Given the description of an element on the screen output the (x, y) to click on. 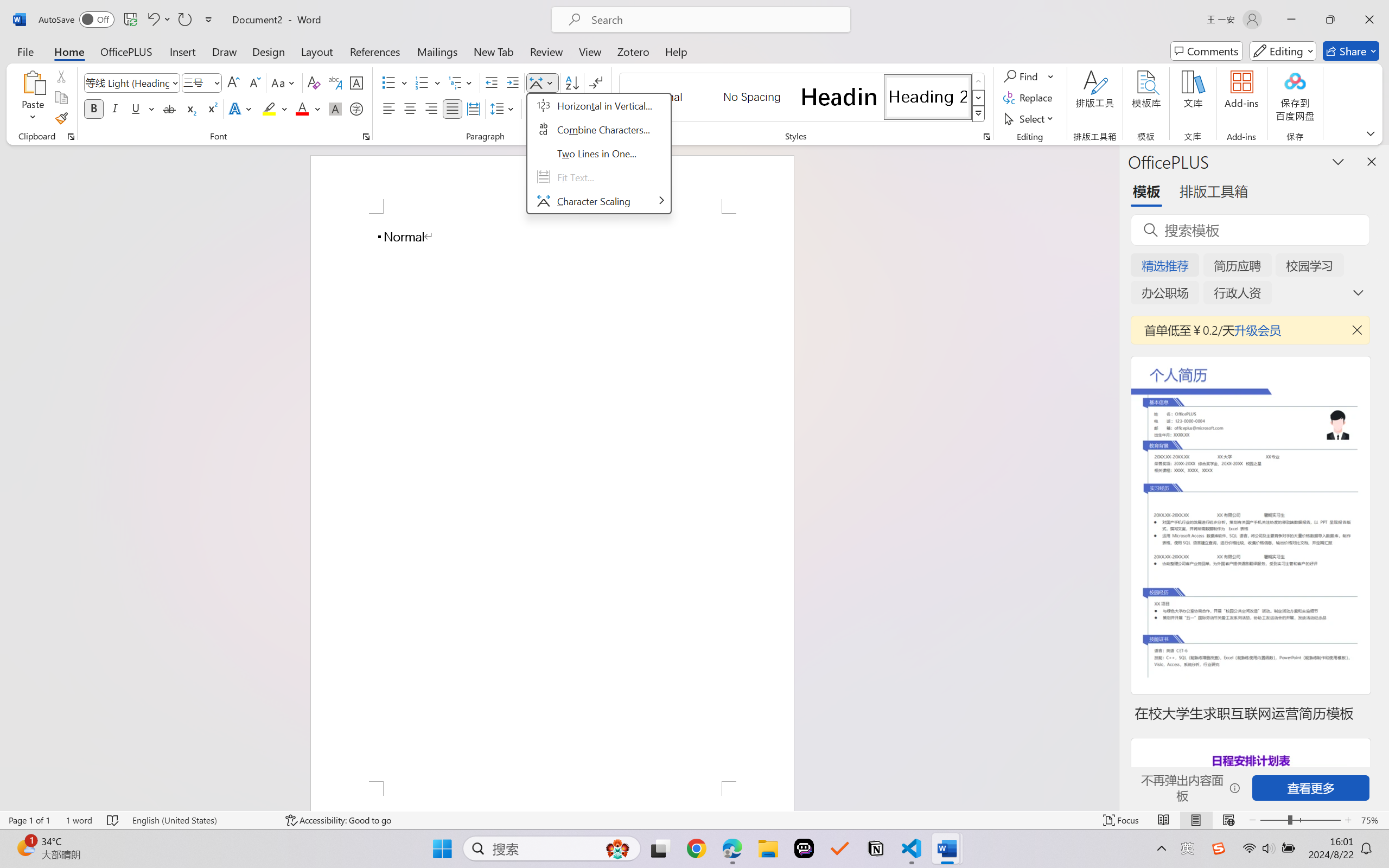
Multilevel List (461, 82)
Notion (875, 848)
Minimize (1291, 19)
Close (1369, 19)
Styles... (986, 136)
Quick Access Toolbar (127, 19)
Line and Paragraph Spacing (503, 108)
OfficePLUS (126, 51)
Poe (804, 848)
Select (1030, 118)
Class: NetUIScrollBar (1111, 477)
Sort... (571, 82)
Undo Typing (152, 19)
